Given the description of an element on the screen output the (x, y) to click on. 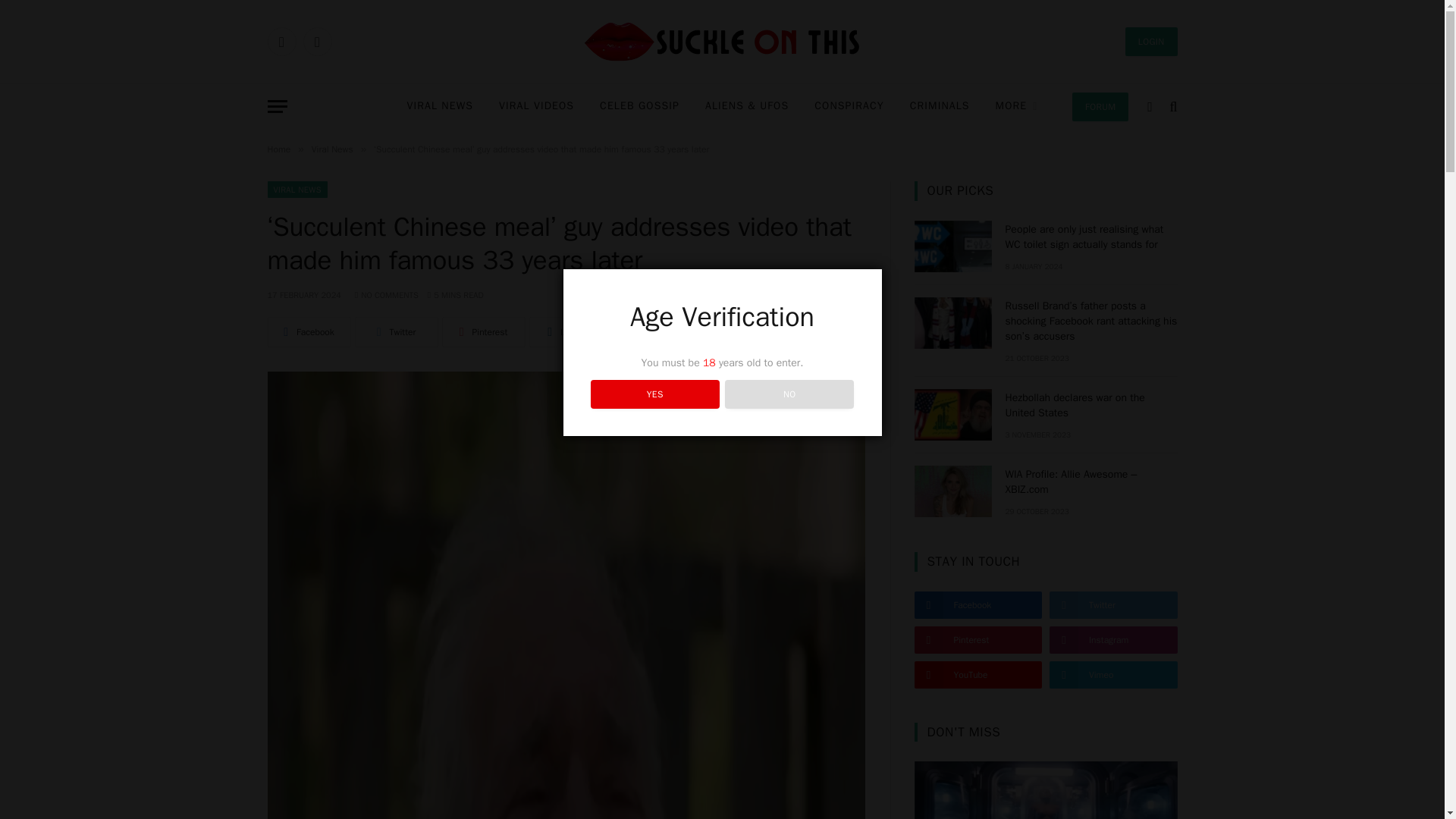
Instagram (316, 41)
Share on Pinterest (482, 331)
Show More Social Sharing (630, 331)
VIRAL NEWS (439, 106)
Share on Facebook (308, 331)
VIRAL VIDEOS (536, 106)
suckleonthis.com (721, 41)
Share on LinkedIn (570, 331)
MORE (1016, 106)
LOGIN (1151, 41)
CELEB GOSSIP (639, 106)
CRIMINALS (939, 106)
CONSPIRACY (849, 106)
Switch to Dark Design - easier on eyes. (1149, 106)
